Given the description of an element on the screen output the (x, y) to click on. 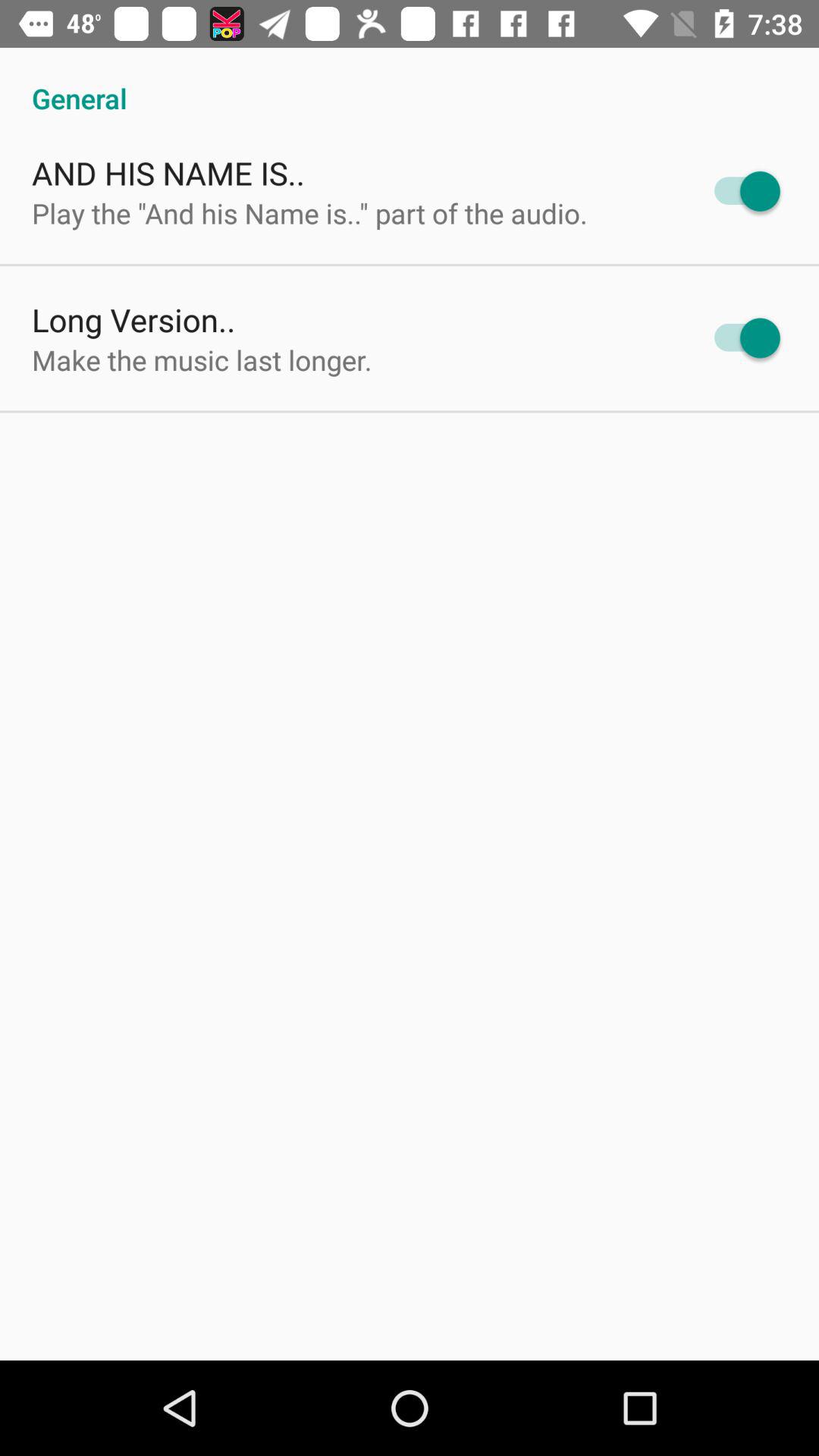
flip to the play the and (309, 213)
